Given the description of an element on the screen output the (x, y) to click on. 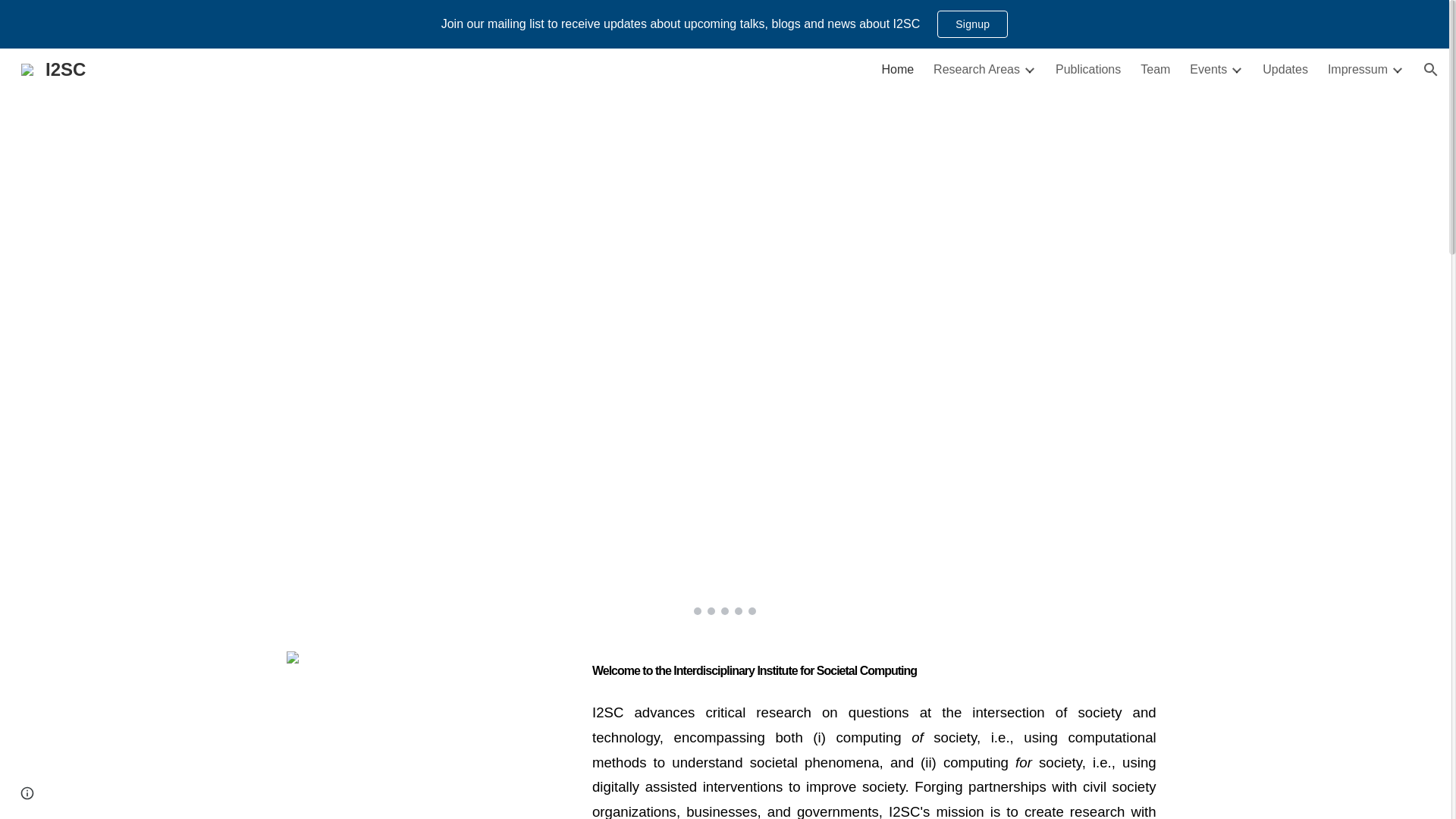
Signup (972, 23)
Home (897, 69)
Publications (1088, 69)
Team (1155, 69)
Signup (972, 23)
Events (1208, 69)
Research Areas (976, 69)
I2SC (52, 67)
